Given the description of an element on the screen output the (x, y) to click on. 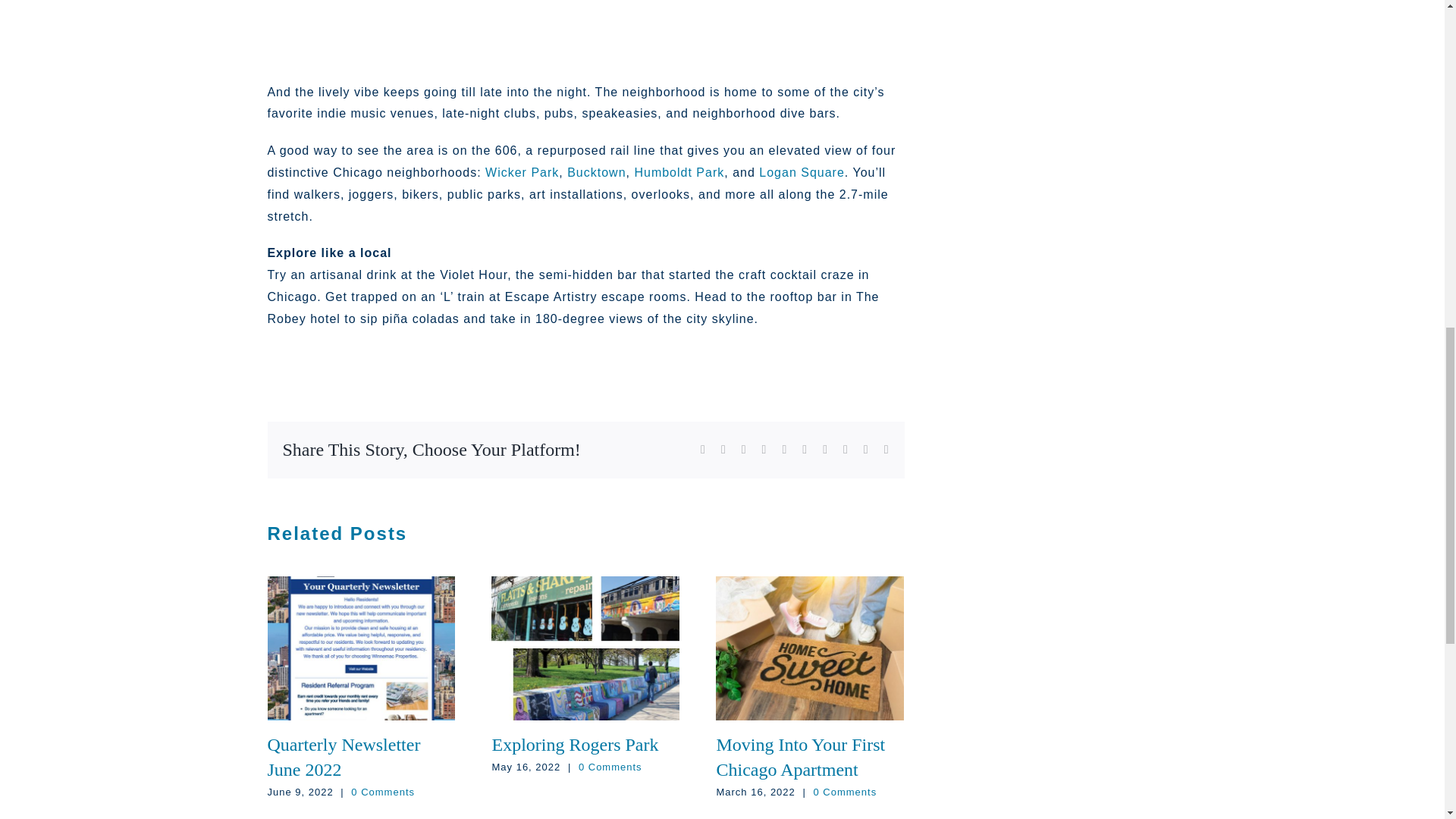
Moving Into Your First Chicago Apartment (800, 756)
Exploring Rogers Park (575, 744)
Quarterly Newsletter June 2022 (343, 756)
